Given the description of an element on the screen output the (x, y) to click on. 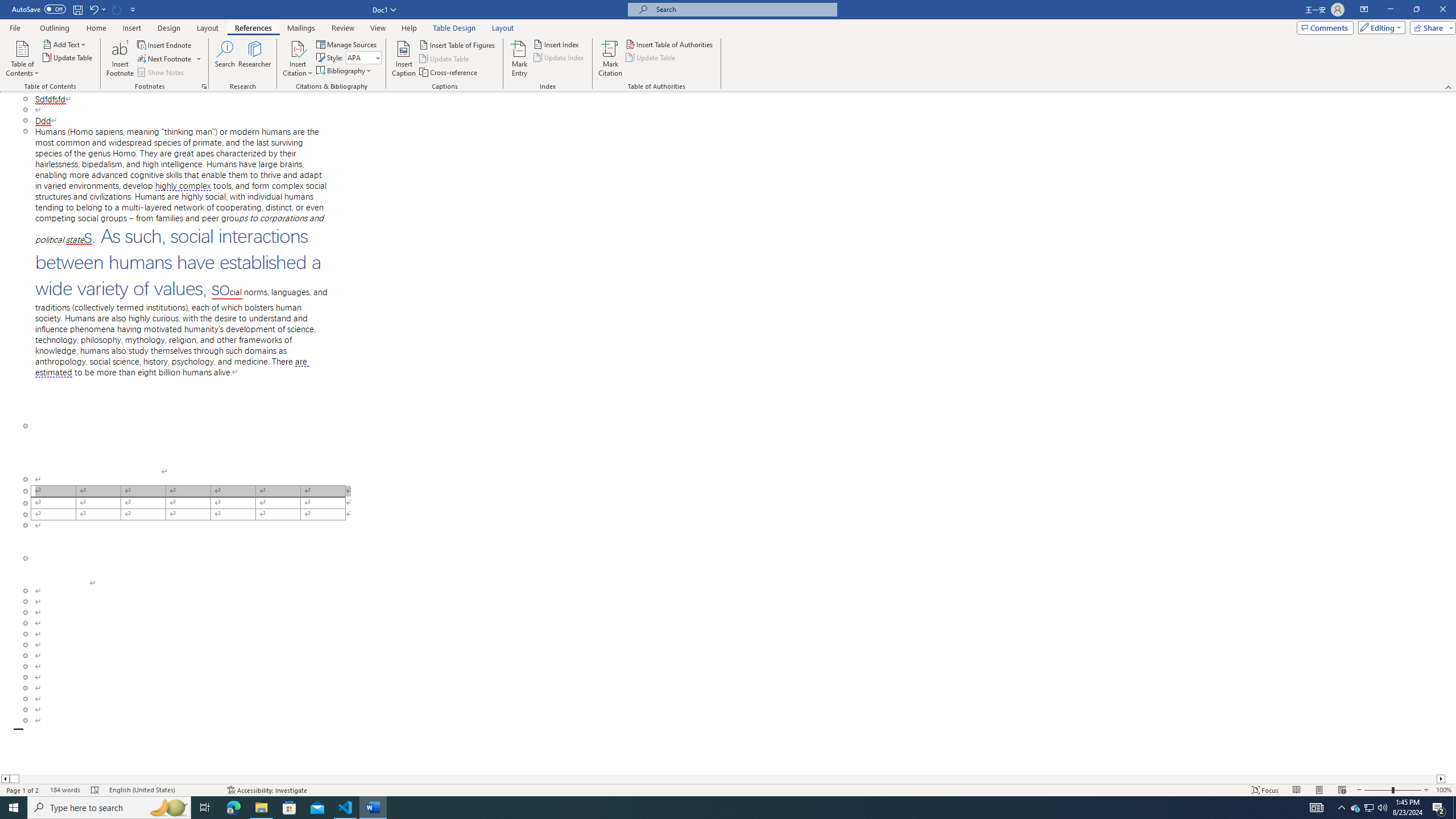
Update Table... (68, 56)
Update Index (559, 56)
Cross-reference... (448, 72)
Insert Caption... (403, 58)
Update Table (651, 56)
Next Footnote (169, 58)
